Given the description of an element on the screen output the (x, y) to click on. 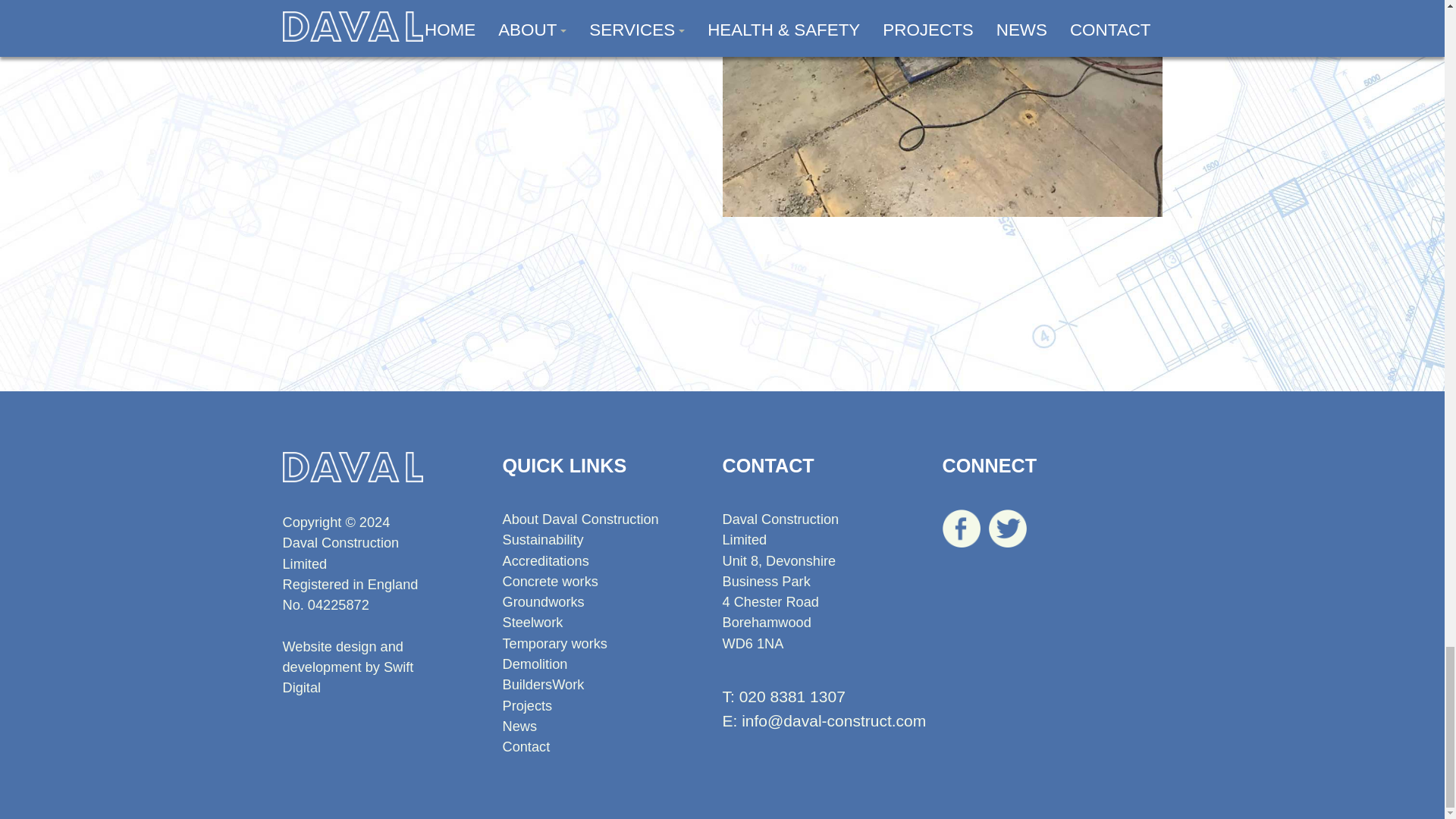
Website design and development by Swift Digital (347, 667)
020 8381 1307 (792, 696)
Concrete works (549, 581)
Contact (526, 746)
Temporary works (554, 643)
Accreditations (545, 560)
Sustainability (542, 539)
BuildersWork (542, 684)
Groundworks (542, 601)
Steelwork (532, 622)
Demolition (534, 663)
About Daval Construction (580, 519)
News (518, 726)
Projects (526, 705)
